Given the description of an element on the screen output the (x, y) to click on. 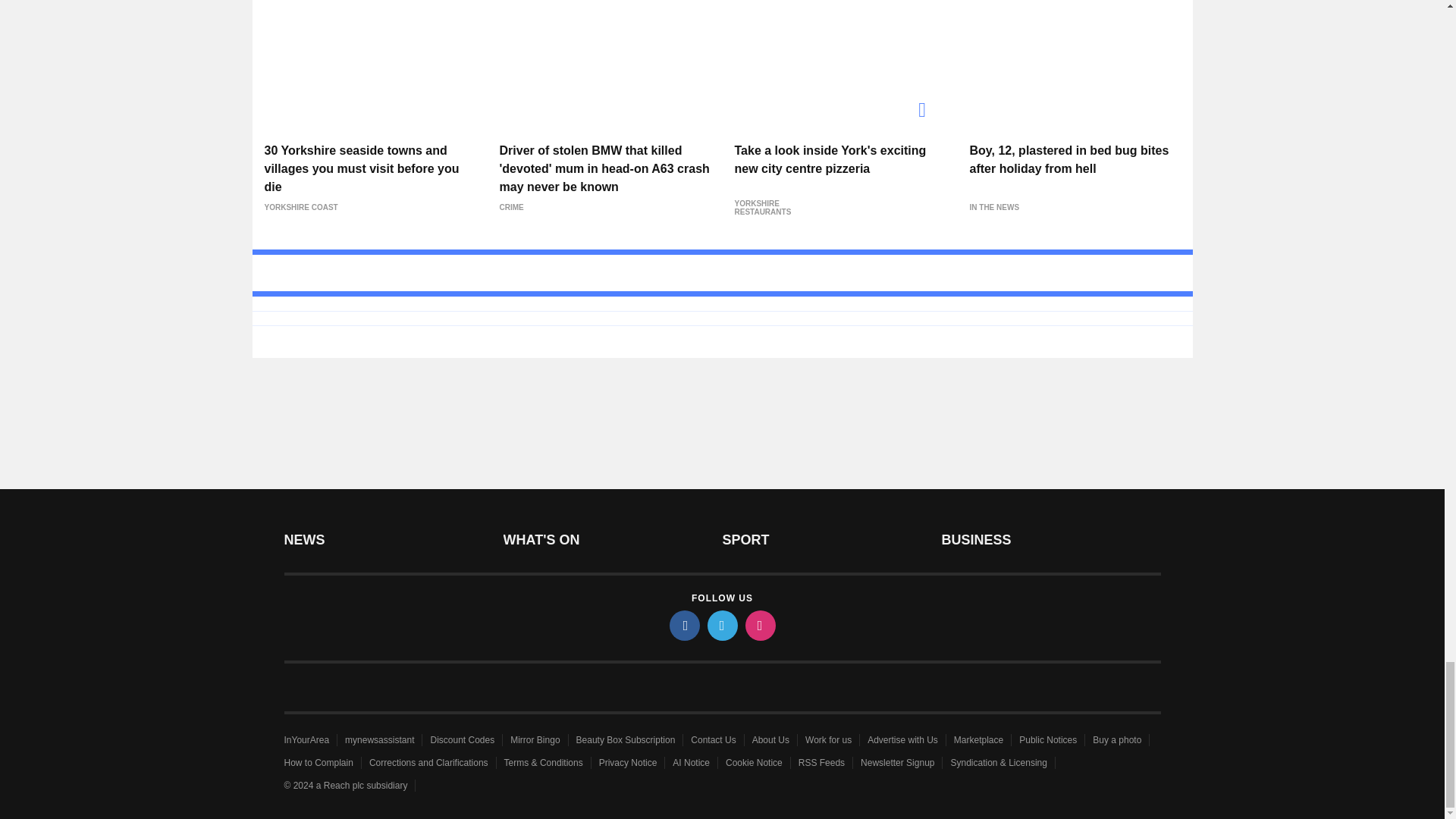
facebook (683, 625)
instagram (759, 625)
twitter (721, 625)
